Given the description of an element on the screen output the (x, y) to click on. 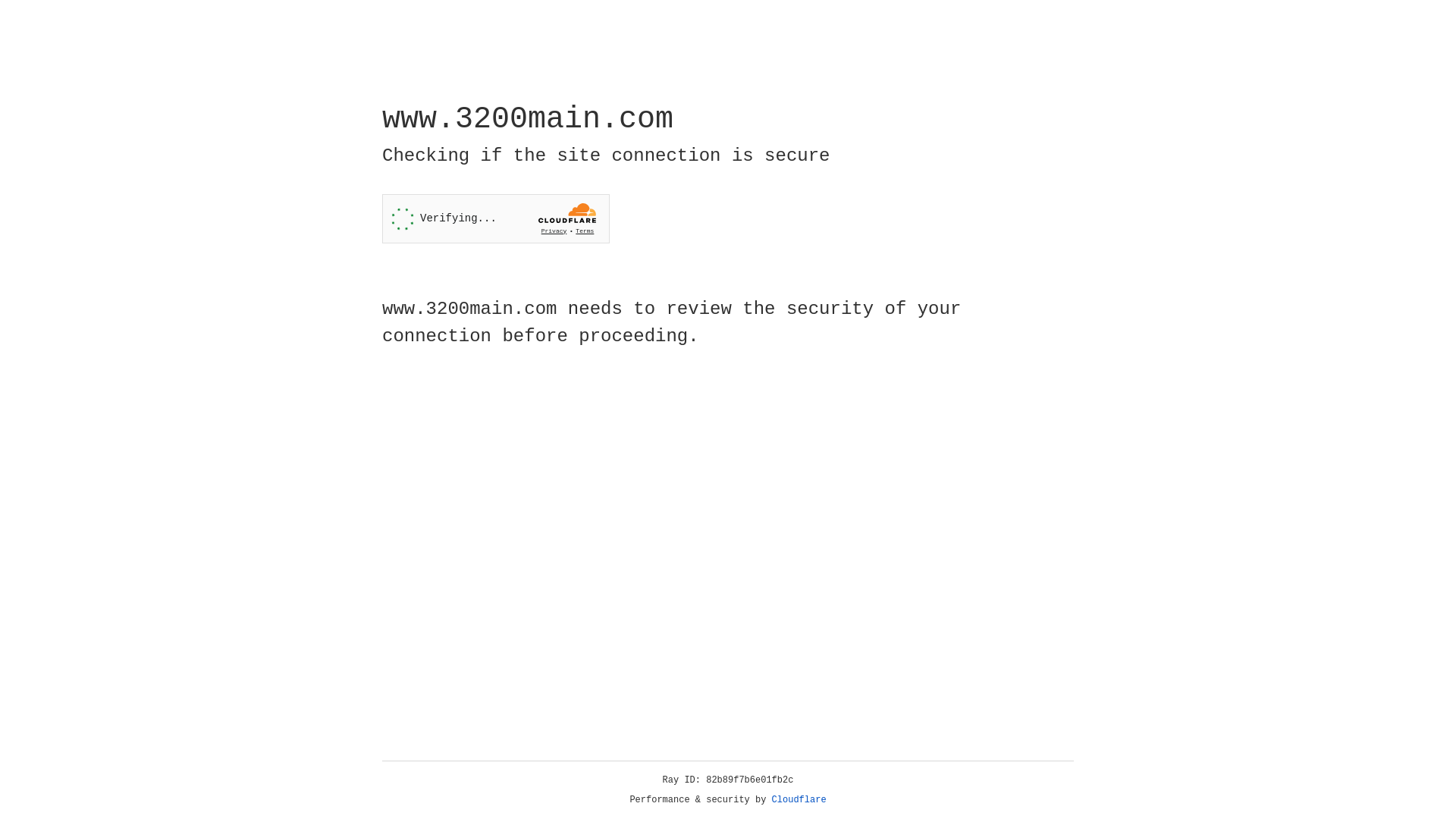
Widget containing a Cloudflare security challenge Element type: hover (495, 218)
Cloudflare Element type: text (798, 799)
